Given the description of an element on the screen output the (x, y) to click on. 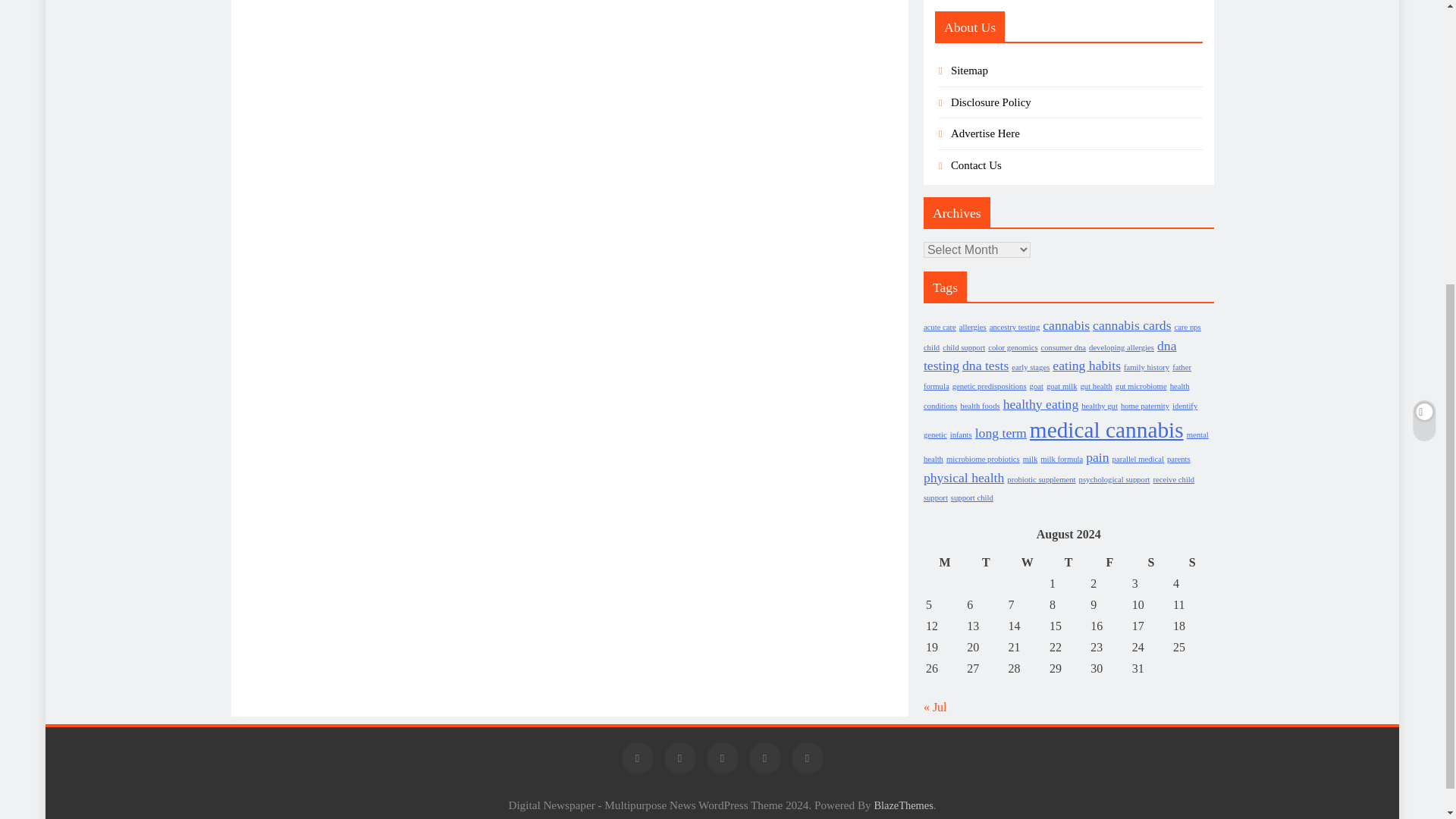
Sunday (1191, 562)
Monday (943, 562)
Saturday (1150, 562)
Wednesday (1026, 562)
Friday (1109, 562)
Thursday (1067, 562)
Tuesday (986, 562)
